Given the description of an element on the screen output the (x, y) to click on. 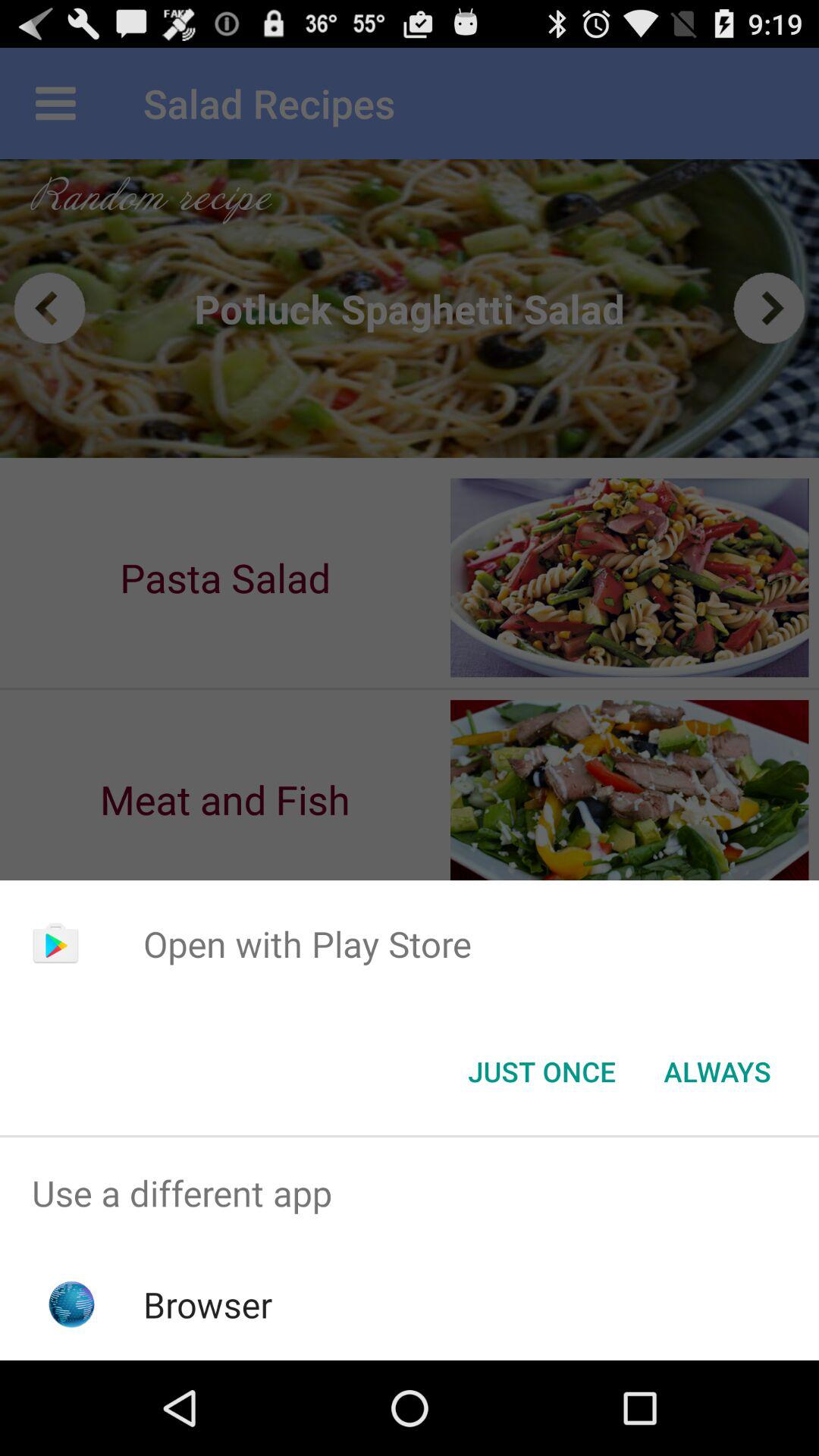
choose the just once (541, 1071)
